Given the description of an element on the screen output the (x, y) to click on. 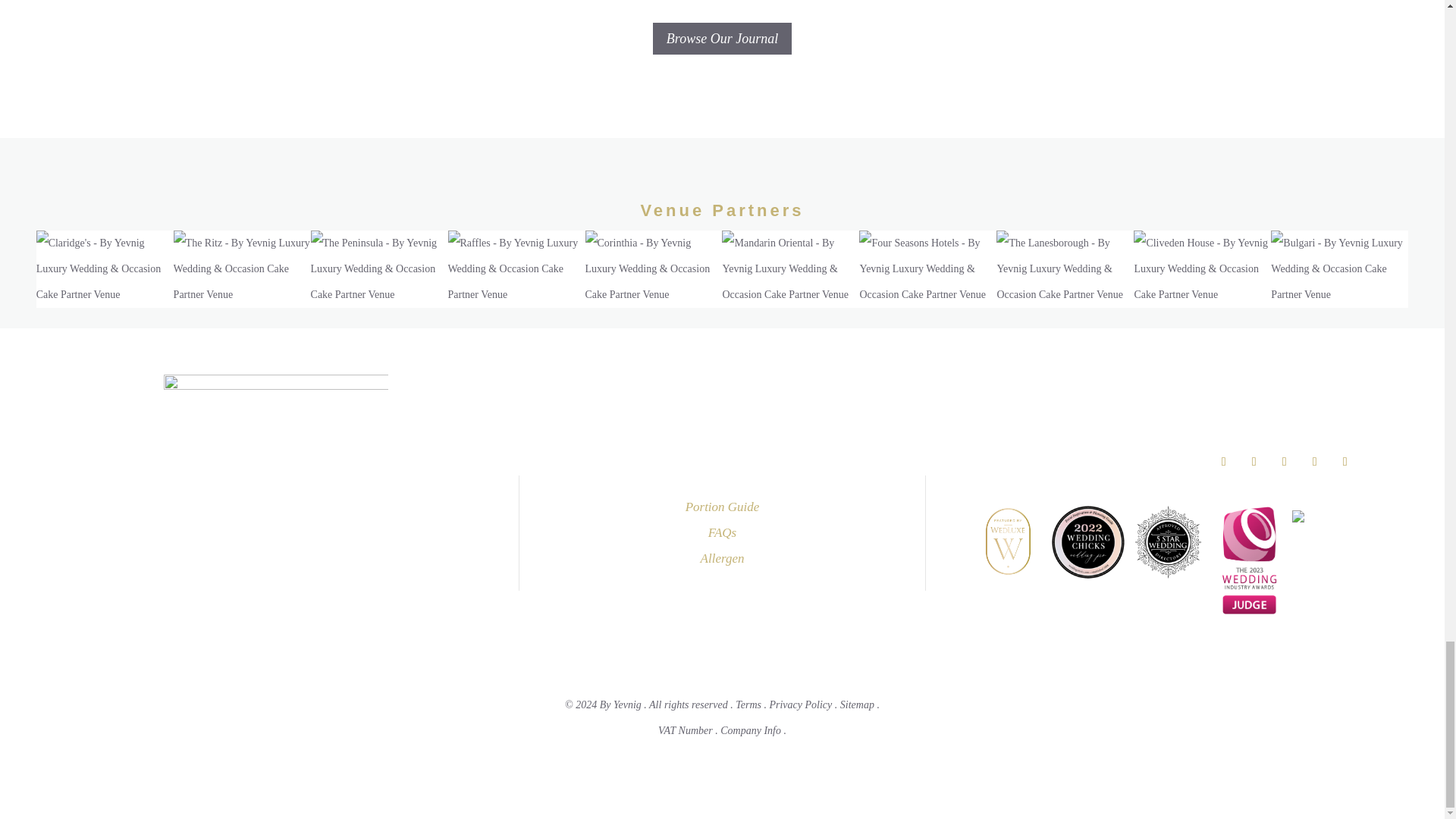
Portion Guide (722, 506)
Follow on Facebook (1223, 461)
FAQs (721, 532)
Follow on Pinterest (1314, 461)
Follow on LinkedIn (1344, 461)
Allergen (722, 558)
Follow on X (1253, 461)
Browse Our Journal (722, 38)
Follow on Instagram (1284, 461)
